Given the description of an element on the screen output the (x, y) to click on. 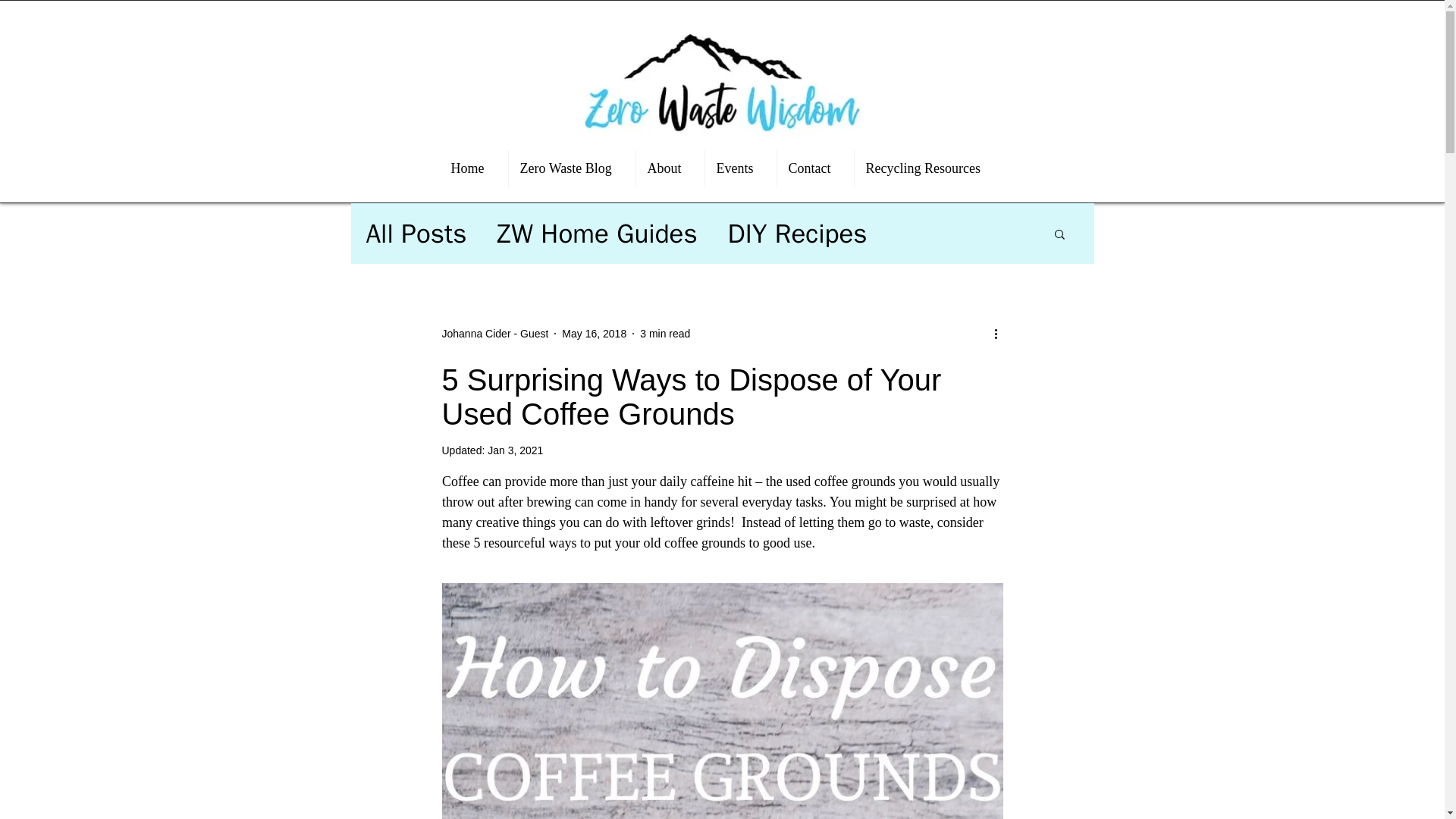
Zero Waste Blog (571, 168)
May 16, 2018 (594, 333)
Contact (814, 168)
ZW Home Guides (596, 232)
DIY Recipes (797, 232)
Recycling Resources (928, 168)
Home (473, 168)
Jan 3, 2021 (515, 450)
Johanna Cider - Guest (494, 333)
3 min read (665, 333)
